Given the description of an element on the screen output the (x, y) to click on. 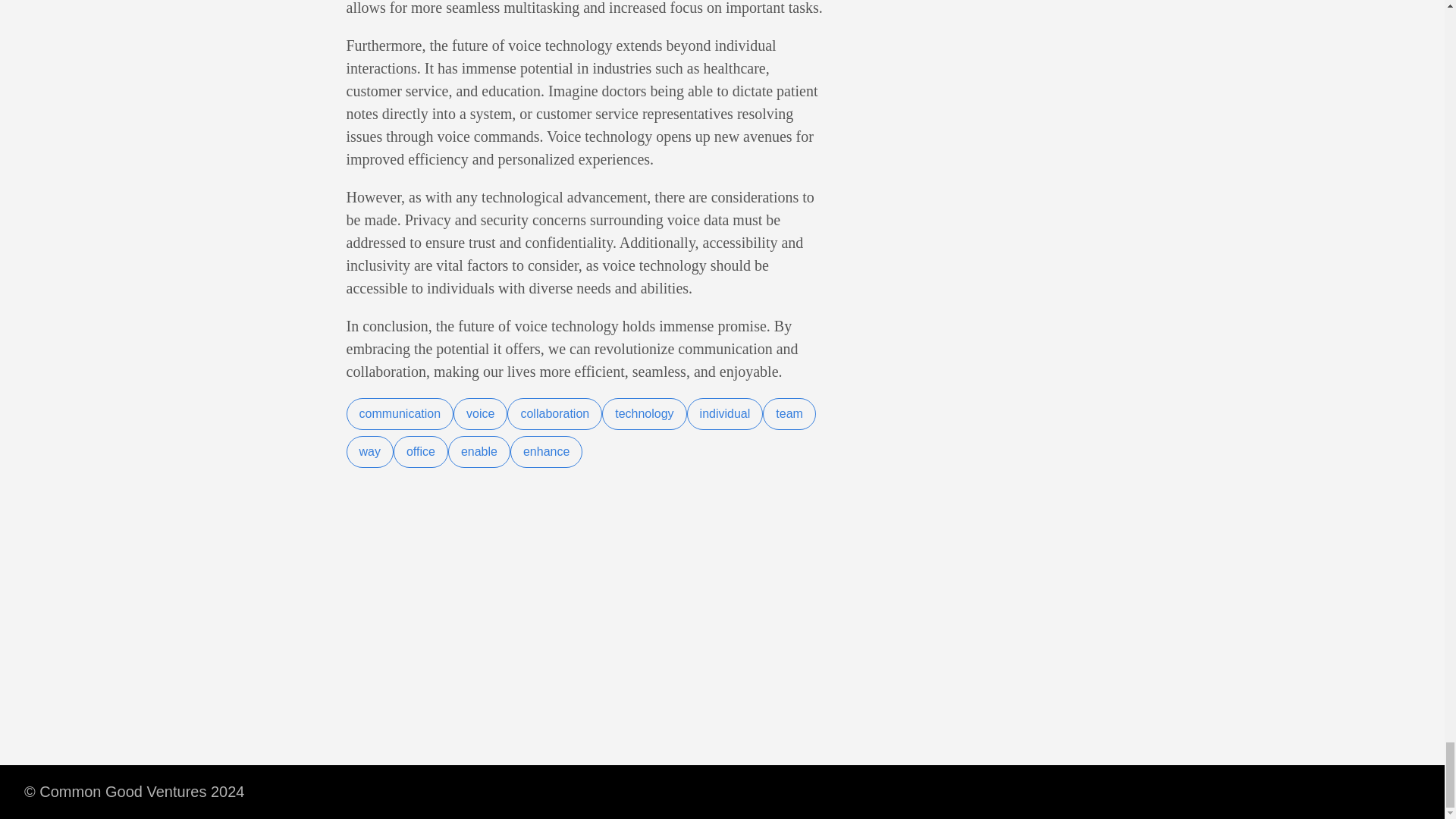
technology (643, 413)
office (420, 451)
enable (479, 451)
voice (479, 413)
team (788, 413)
enhance (546, 451)
collaboration (554, 413)
communication (399, 413)
individual (724, 413)
way (369, 451)
